Given the description of an element on the screen output the (x, y) to click on. 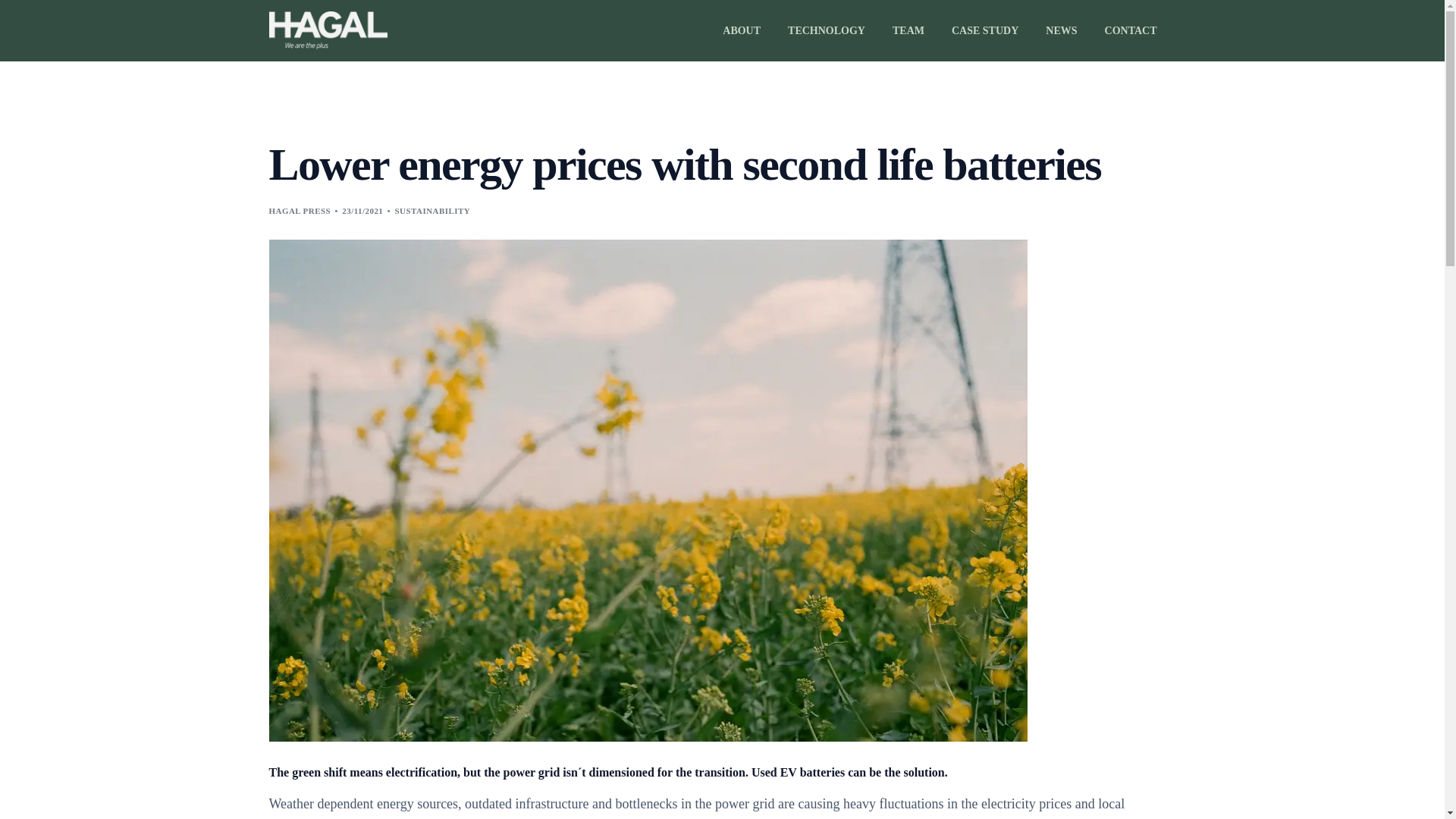
HAGAL PRESS (298, 210)
ABOUT (741, 30)
NEWS (1061, 30)
CONTACT (1123, 30)
TEAM (908, 30)
TECHNOLOGY (826, 30)
SUSTAINABILITY (432, 210)
CASE STUDY (984, 30)
Posts by Hagal Press (298, 210)
